Given the description of an element on the screen output the (x, y) to click on. 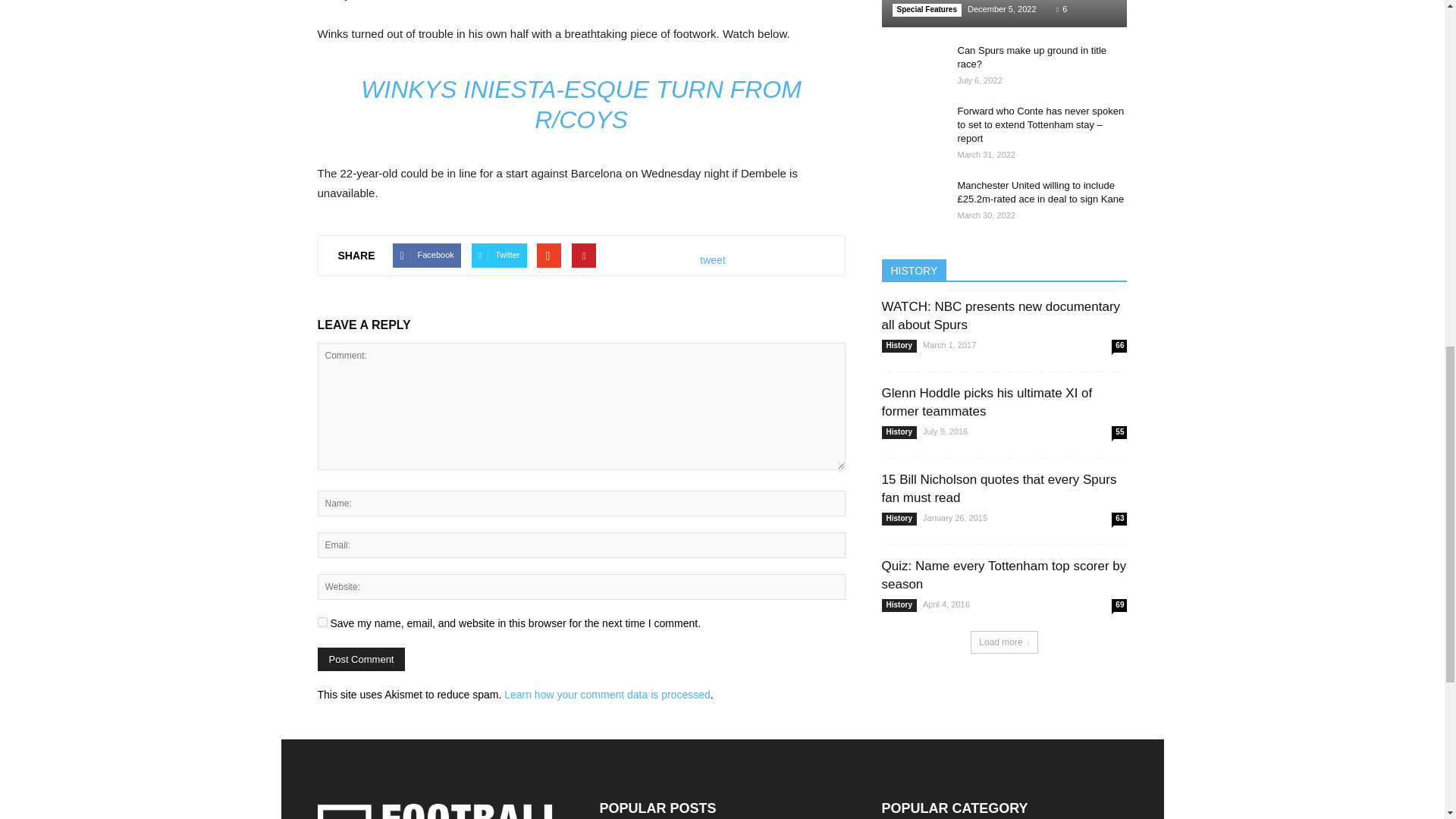
Can Spurs make up ground in title race? (1031, 57)
Post Comment (360, 658)
Can Spurs make up ground in title race? (911, 64)
Glenn Hoddle picks his ultimate XI of former teammates (986, 401)
WATCH: NBC presents new documentary all about Spurs (999, 315)
Will Son shine at the 2022 World Cup? (1003, 13)
yes (321, 622)
15 Bill Nicholson quotes that every Spurs fan must read (998, 488)
